Given the description of an element on the screen output the (x, y) to click on. 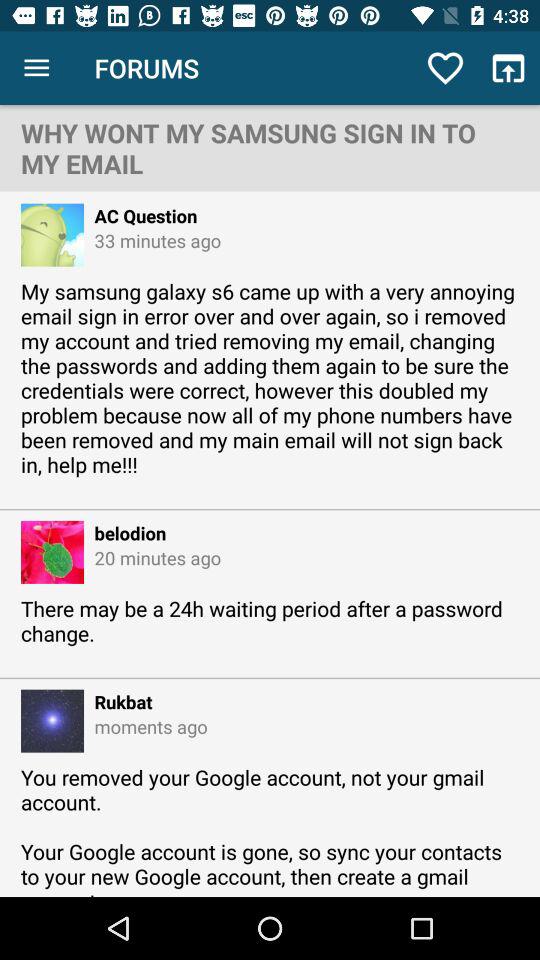
launch the item above the moments ago (118, 701)
